Given the description of an element on the screen output the (x, y) to click on. 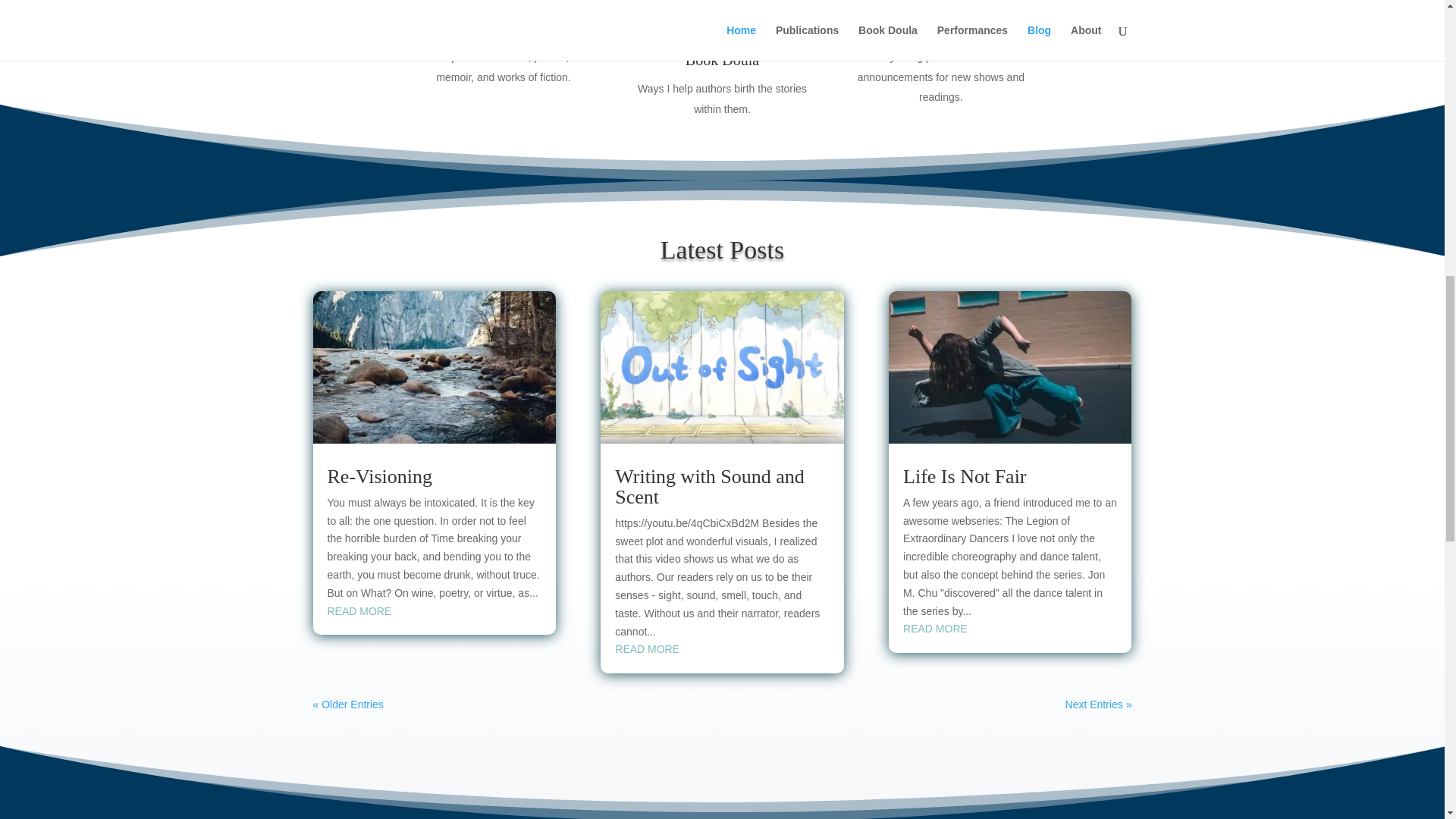
READ MORE (646, 648)
Book Doula (721, 59)
Writing with Sound and Scent (709, 486)
Re-Visioning (379, 476)
READ MORE (359, 611)
READ MORE (935, 628)
Publications (503, 27)
Life Is Not Fair (964, 476)
Performances (940, 27)
